Given the description of an element on the screen output the (x, y) to click on. 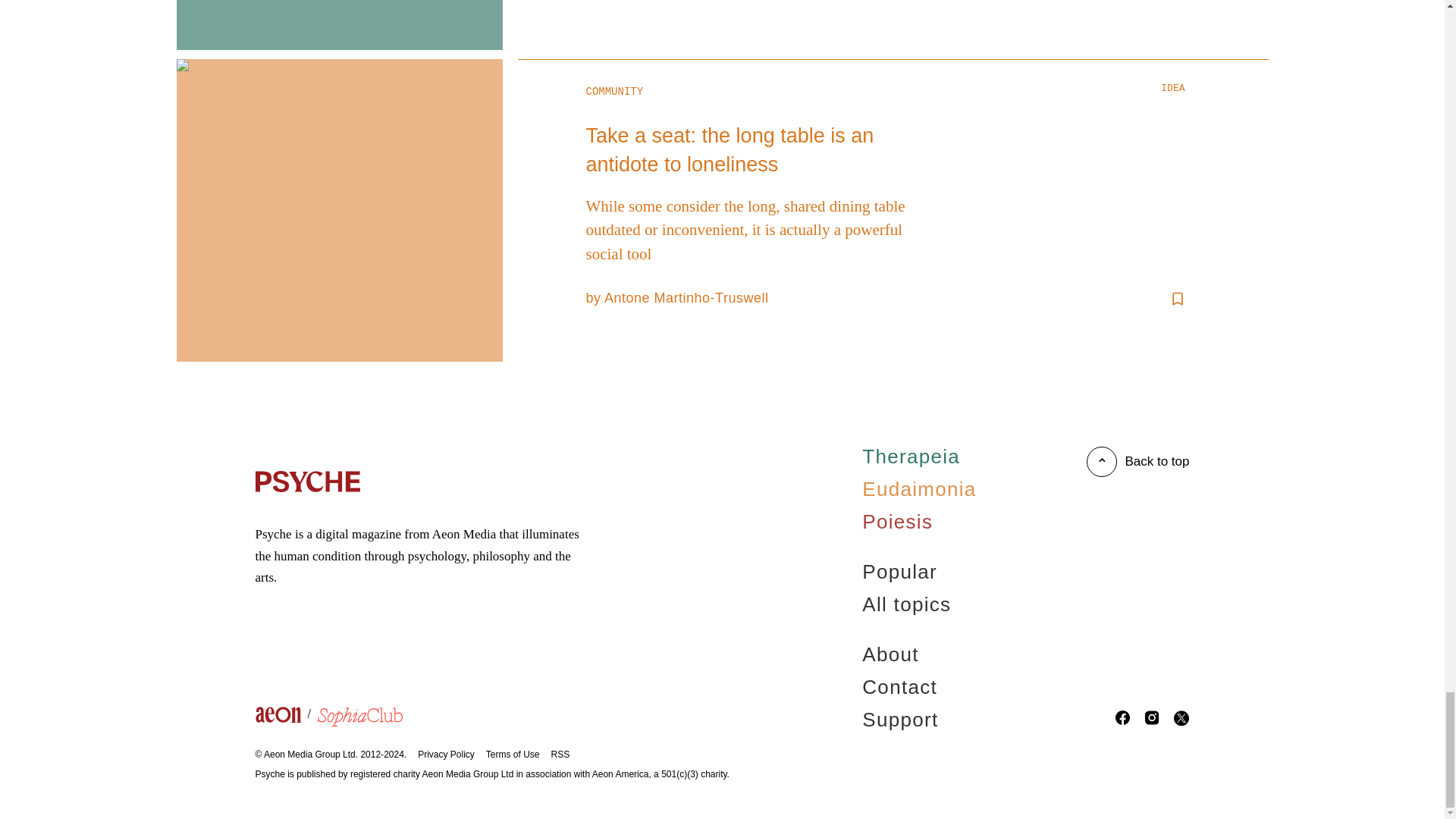
Sophia Club (360, 718)
Aeon (285, 717)
Instagram (1151, 719)
Aeon Media (464, 534)
Facebook (1122, 719)
